Given the description of an element on the screen output the (x, y) to click on. 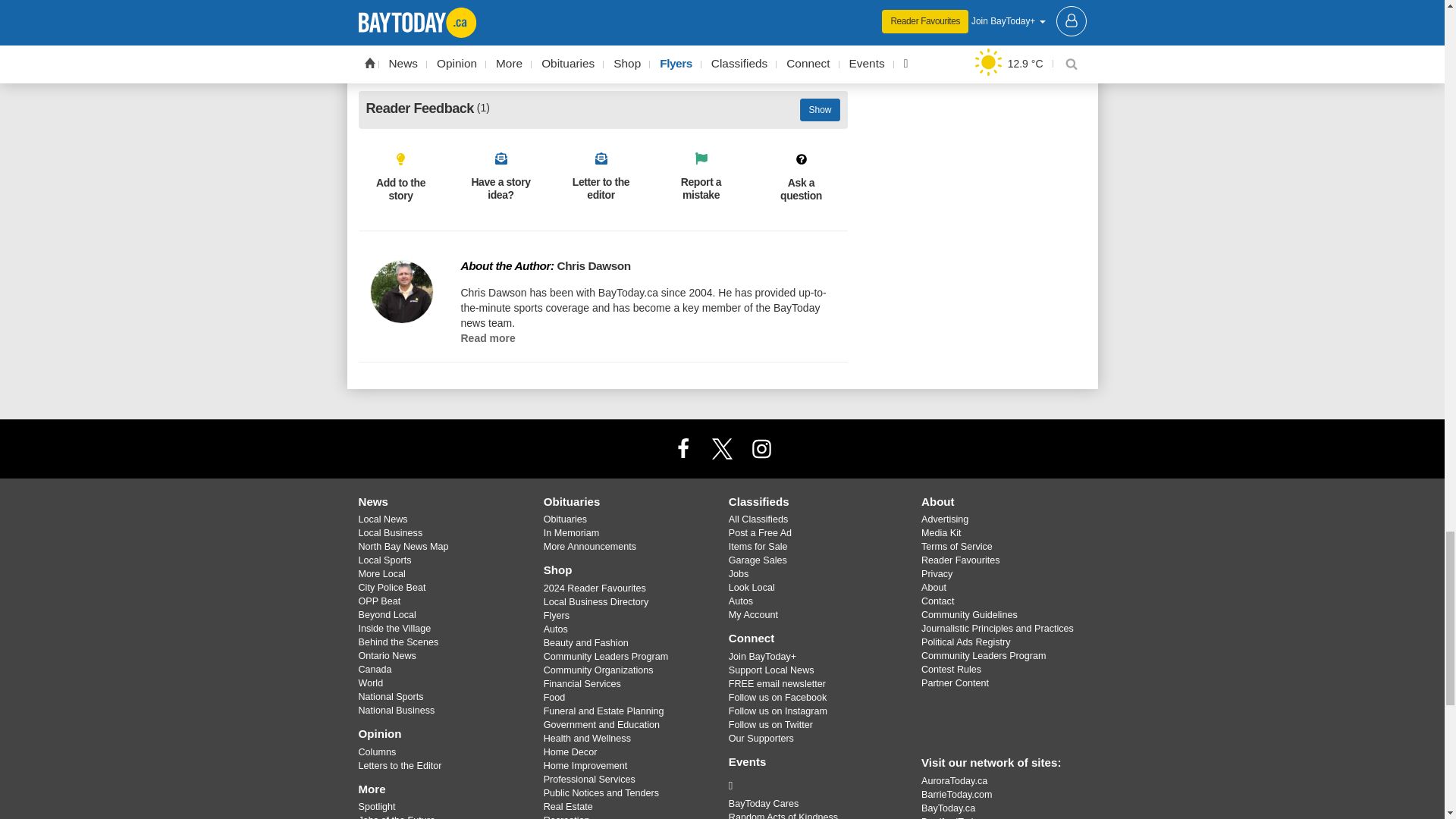
Facebook (683, 448)
BayToday Cares (813, 785)
X (721, 448)
Instagram (760, 448)
